Given the description of an element on the screen output the (x, y) to click on. 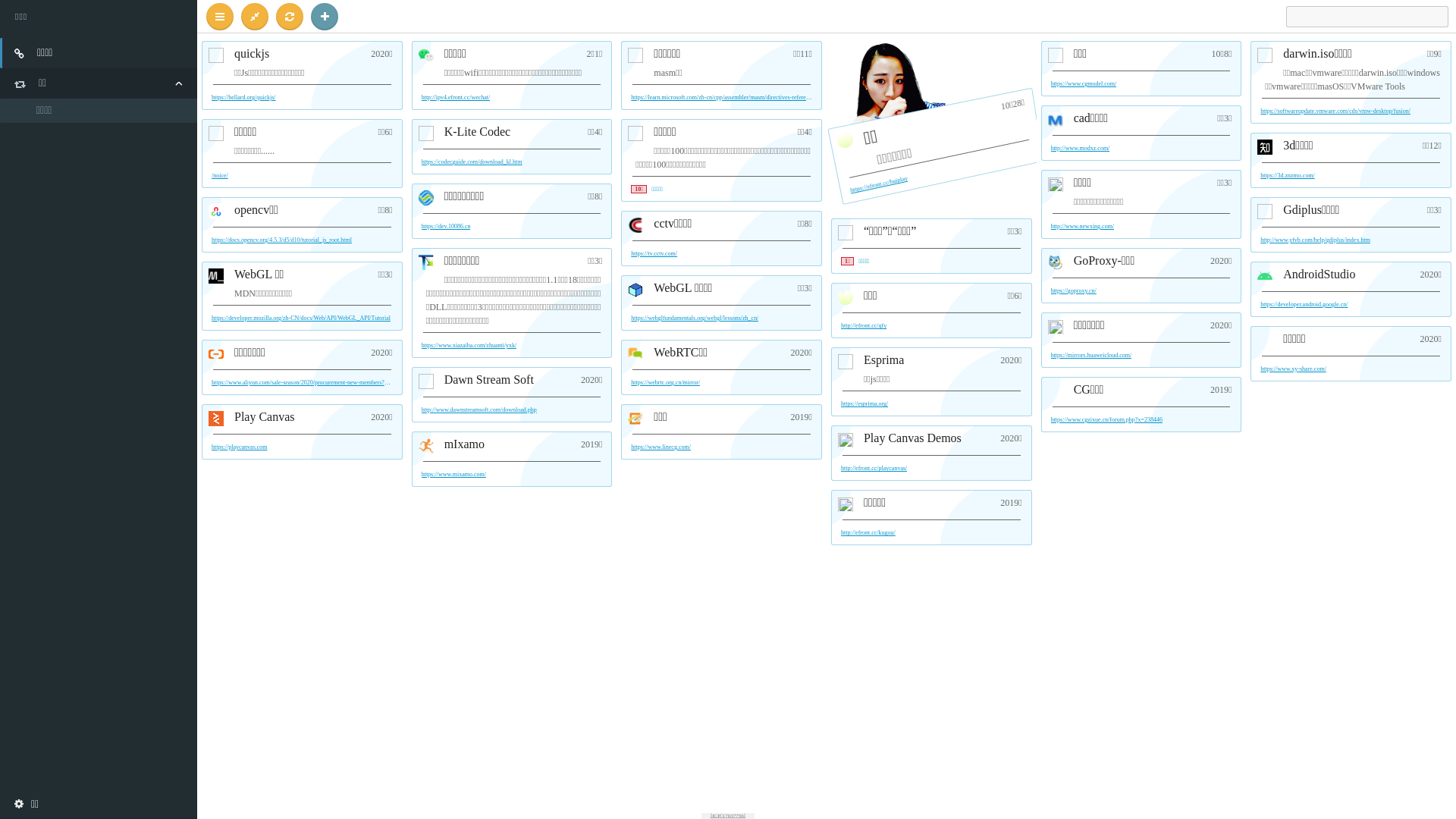
http://www.modxz.com/ Element type: text (1080, 148)
https://www.cgzixue.cn/forum.php?x=238446 Element type: text (1106, 419)
https://mirrors.huaweicloud.com/ Element type: text (1091, 355)
https://tv.cctv.com/ Element type: text (653, 253)
http://www.newxing.com/ Element type: text (1082, 226)
https://playcanvas.com Element type: text (239, 447)
https://goproxy.cn/ Element type: text (1073, 291)
https://webrtc.org.cn/mirror/ Element type: text (664, 382)
http://www.yfvb.com/help/gdiplus/index.htm Element type: text (1315, 240)
/noice/ Element type: text (219, 175)
https://3d.znzmo.com/ Element type: text (1287, 175)
https://www.linecg.com/ Element type: text (660, 447)
https://bellard.org/quickjs/ Element type: text (243, 97)
https://esprima.org/ Element type: text (864, 404)
http://ipv4.efront.cc/wechat/ Element type: text (455, 97)
https://docs.opencv.org/4.5.3/d5/d10/tutorial_js_root.html Element type: text (281, 240)
https://softwareupdate.vmware.com/cds/vmw-desktop/fusion/ Element type: text (1335, 111)
http://efront.cc/kugou/ Element type: text (867, 532)
https://www.xiazaiba.com/zhuanti/yxk/ Element type: text (469, 345)
http://efront.cc/qfy Element type: text (863, 325)
https://webglfundamentals.org/webgl/lessons/zh_cn/ Element type: text (694, 318)
https://www.mixamo.com/ Element type: text (453, 474)
https://codecguide.com/download_kl.htm Element type: text (471, 162)
http://www.dawnstreamsoft.com/download.php Element type: text (478, 410)
https://www.xy-share.com/ Element type: text (1293, 369)
https://www.cgmodel.com/ Element type: text (1084, 84)
https://developer.android.google.cn/ Element type: text (1303, 304)
http://efront.cc/playcanvas/ Element type: text (873, 468)
https://efront.cc/baiplay Element type: text (877, 178)
https://dev.10086.cn Element type: text (445, 226)
